Given the description of an element on the screen output the (x, y) to click on. 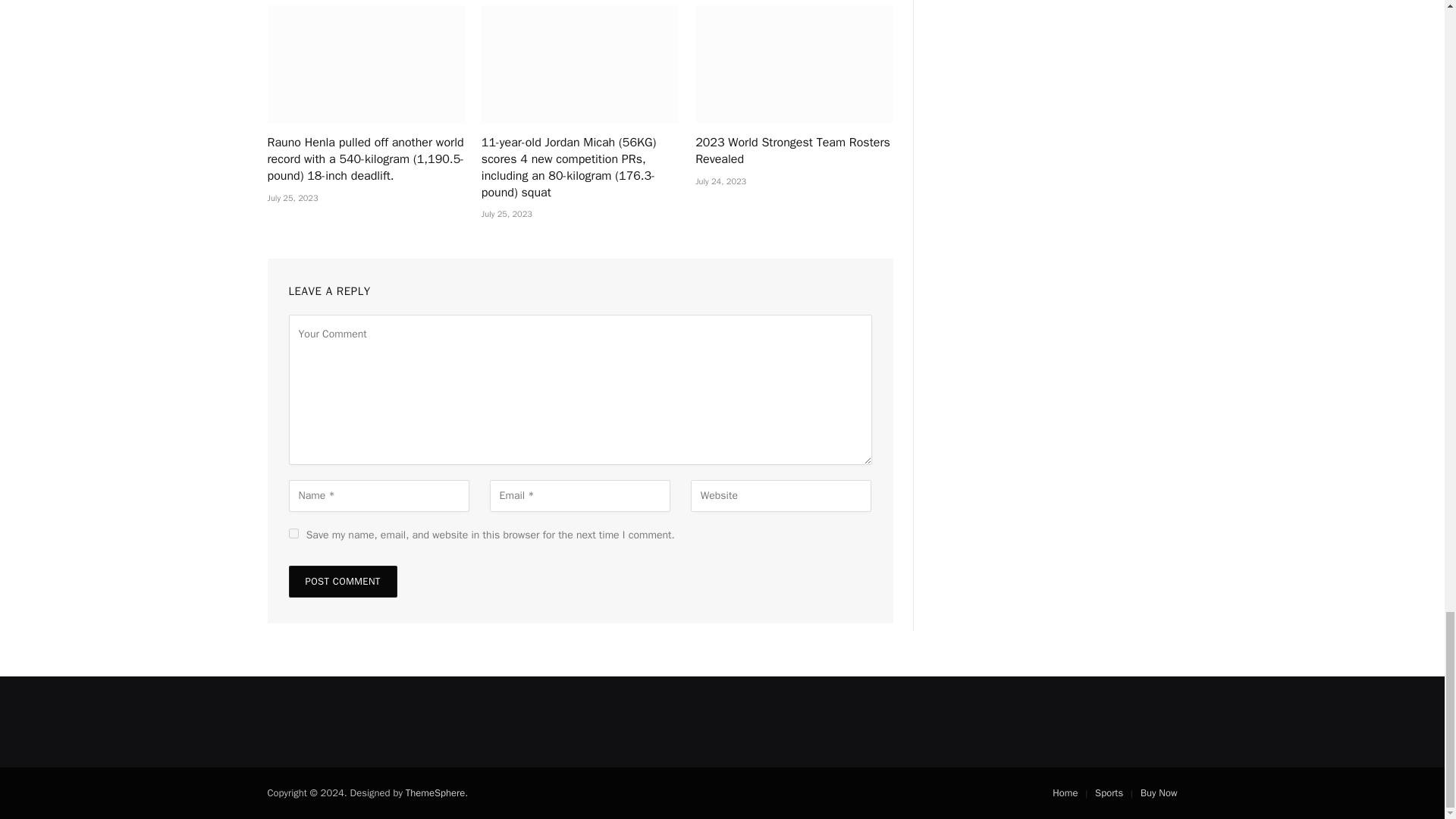
yes (293, 533)
2023 World Strongest Team Rosters Revealed (793, 151)
2023 World Strongest Team Rosters Revealed (793, 63)
Post Comment (342, 581)
